Given the description of an element on the screen output the (x, y) to click on. 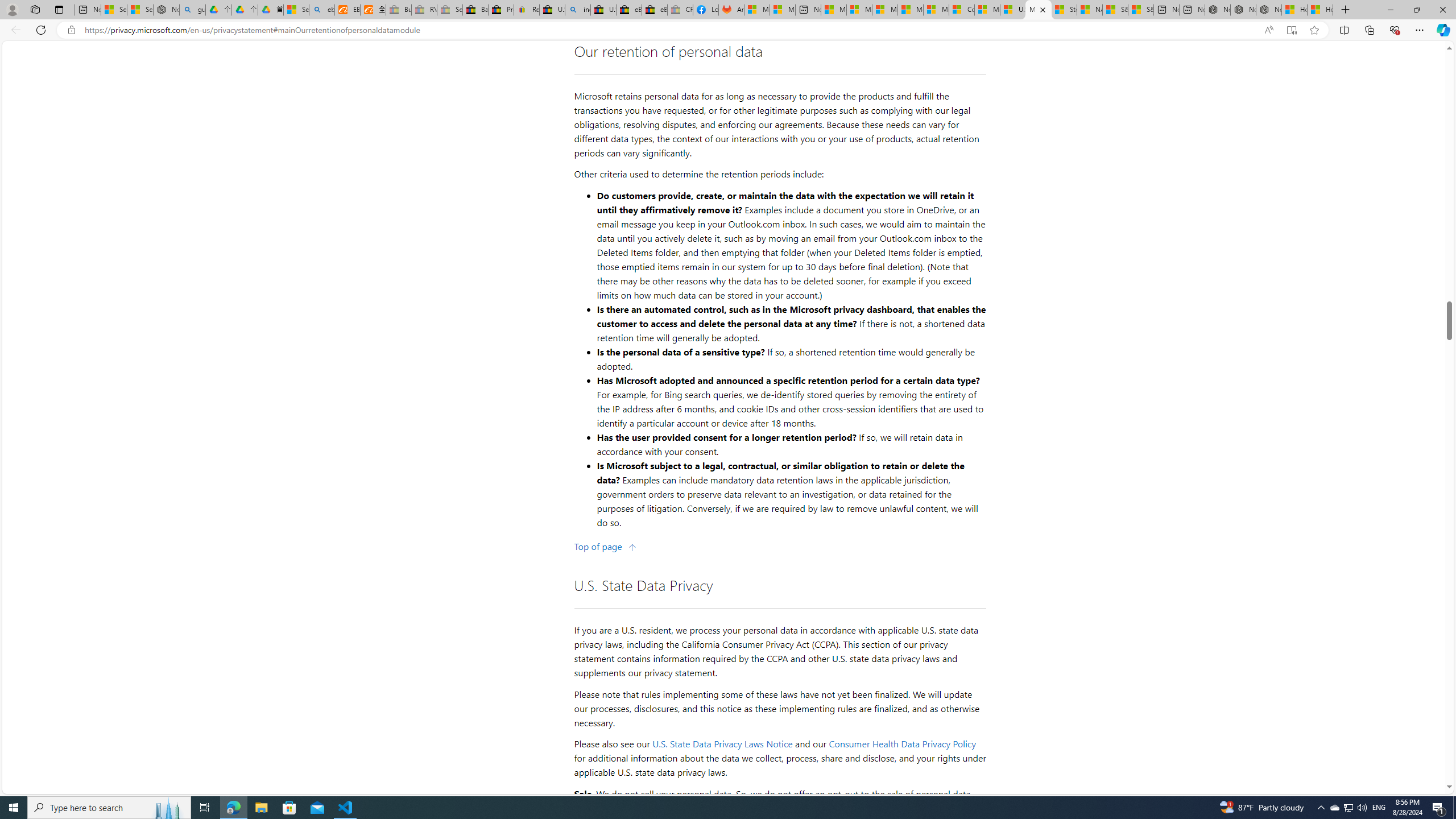
Register: Create a personal eBay account (526, 9)
Microsoft account | Home (884, 9)
Consumer Health Data Privacy Policy (901, 743)
including - Search (577, 9)
